Given the description of an element on the screen output the (x, y) to click on. 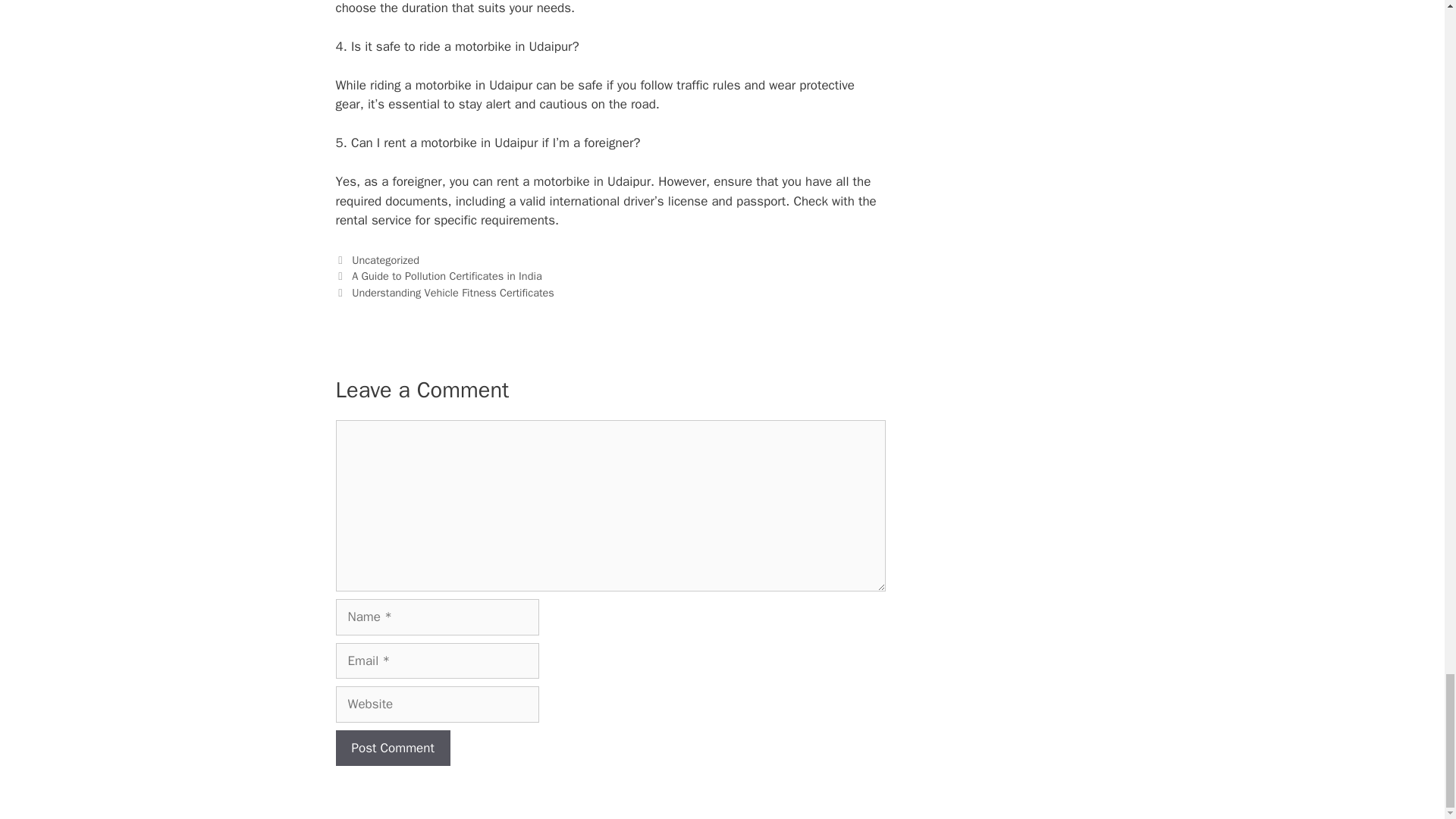
Next (443, 292)
Post Comment (391, 748)
Previous (437, 275)
